Given the description of an element on the screen output the (x, y) to click on. 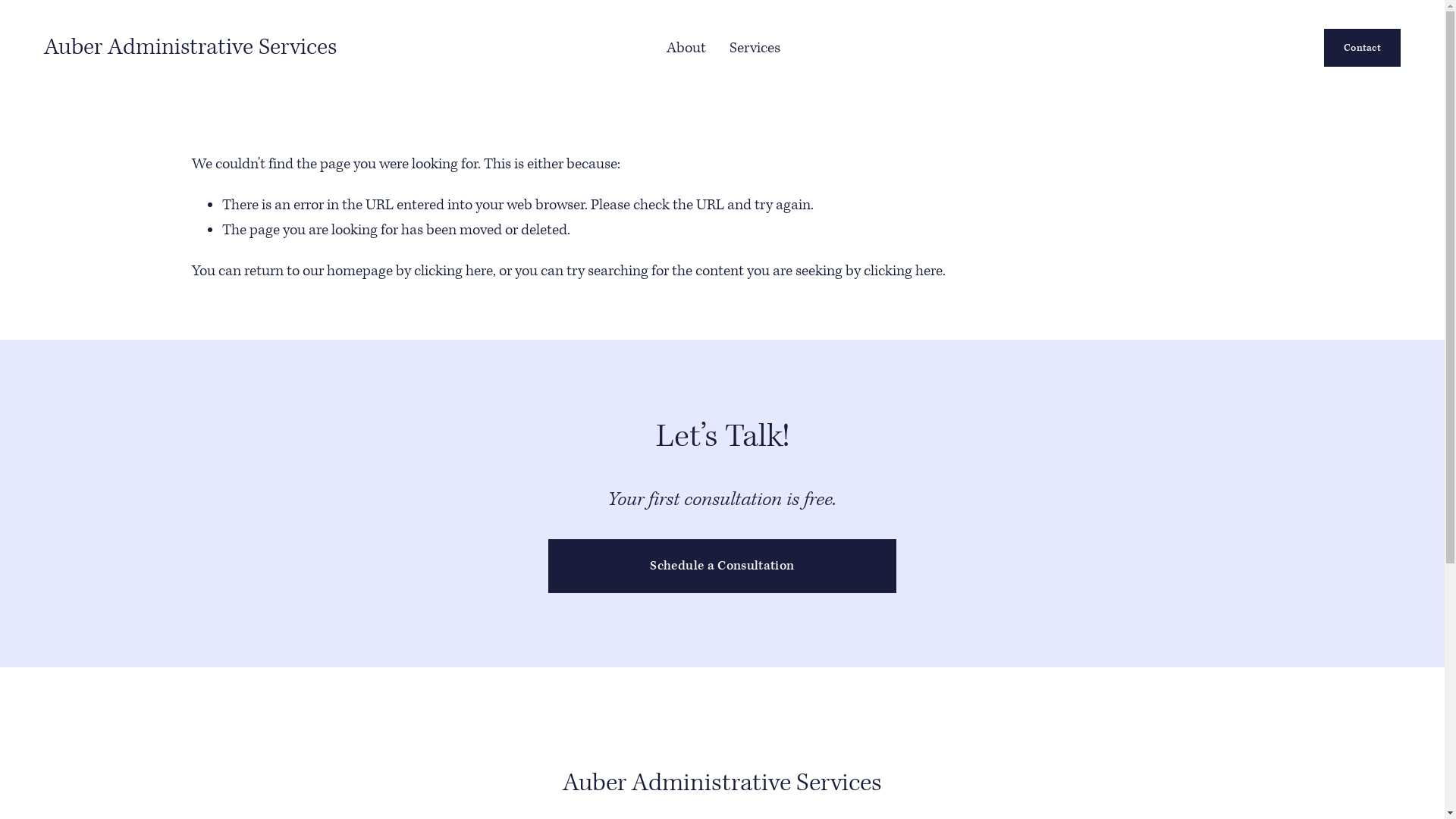
clicking here Element type: text (901, 270)
About Element type: text (686, 47)
Schedule a Consultation Element type: text (722, 566)
Contact Element type: text (1362, 47)
Services Element type: text (754, 47)
Auber Administrative Services Element type: text (189, 47)
clicking here Element type: text (453, 270)
